Given the description of an element on the screen output the (x, y) to click on. 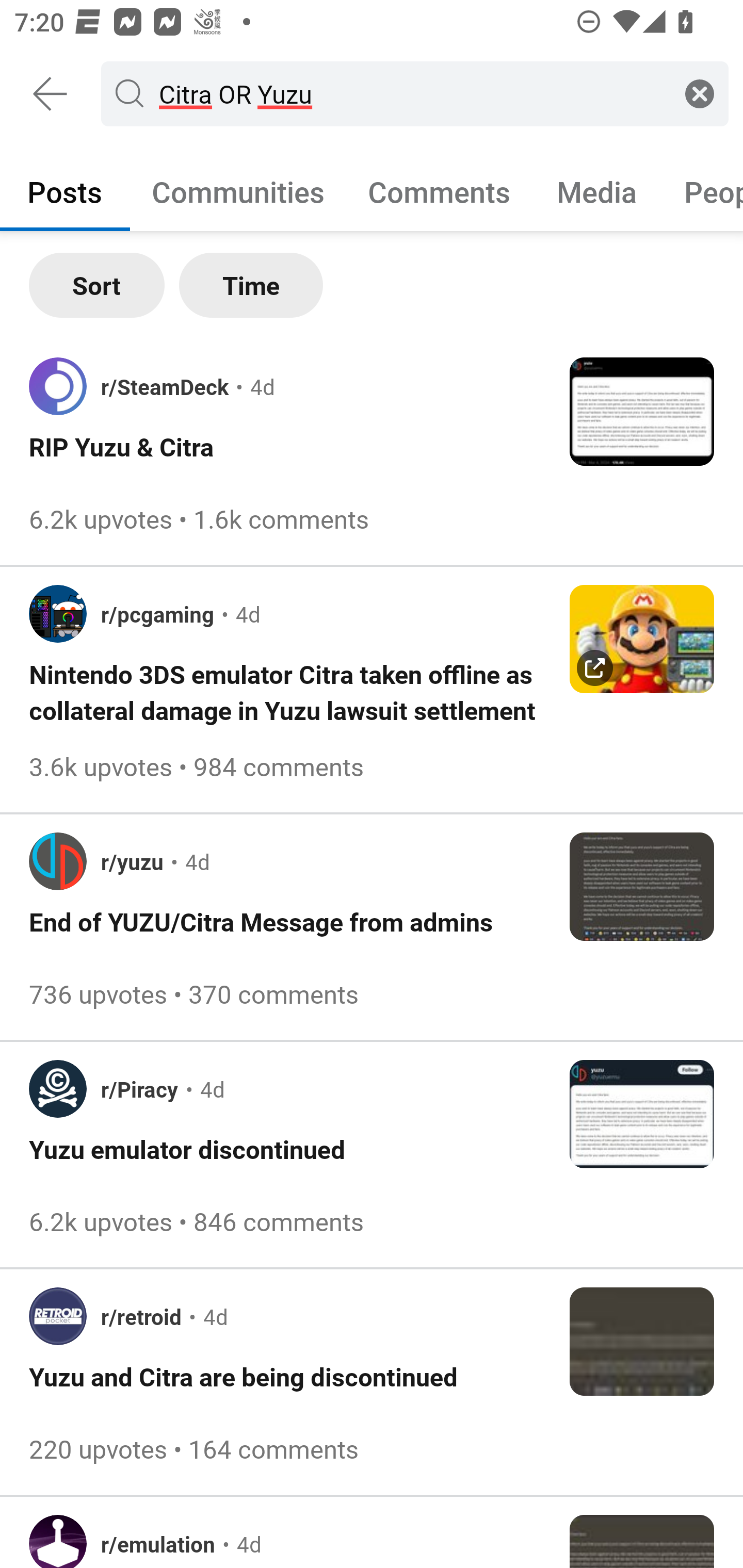
Back (50, 93)
Citra OR Yuzu (410, 93)
Clear search (699, 93)
Communities (238, 191)
Comments (438, 191)
Media (596, 191)
Sort Sort by Most relevant (96, 285)
Time Filter Time by All time (251, 285)
